Given the description of an element on the screen output the (x, y) to click on. 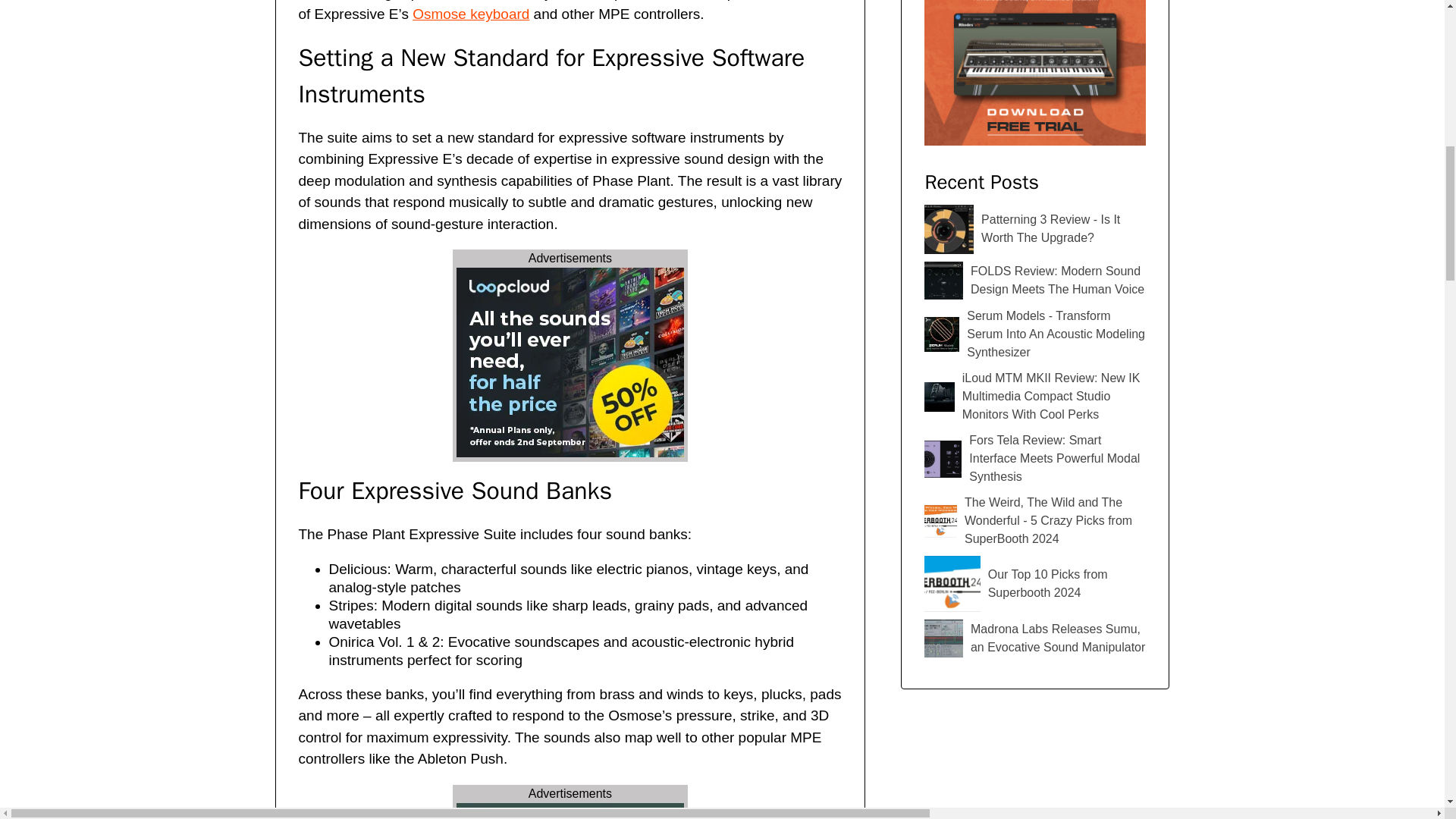
FOLDS Review: Modern Sound Design Meets The Human Voice (1034, 280)
Madrona Labs Releases Sumu, an Evocative Sound Manipulator (1034, 637)
Osmose keyboard (470, 13)
Patterning 3 Review - Is It Worth The Upgrade? (1034, 228)
Our Top 10 Picks from Superbooth 2024 (1034, 583)
